Given the description of an element on the screen output the (x, y) to click on. 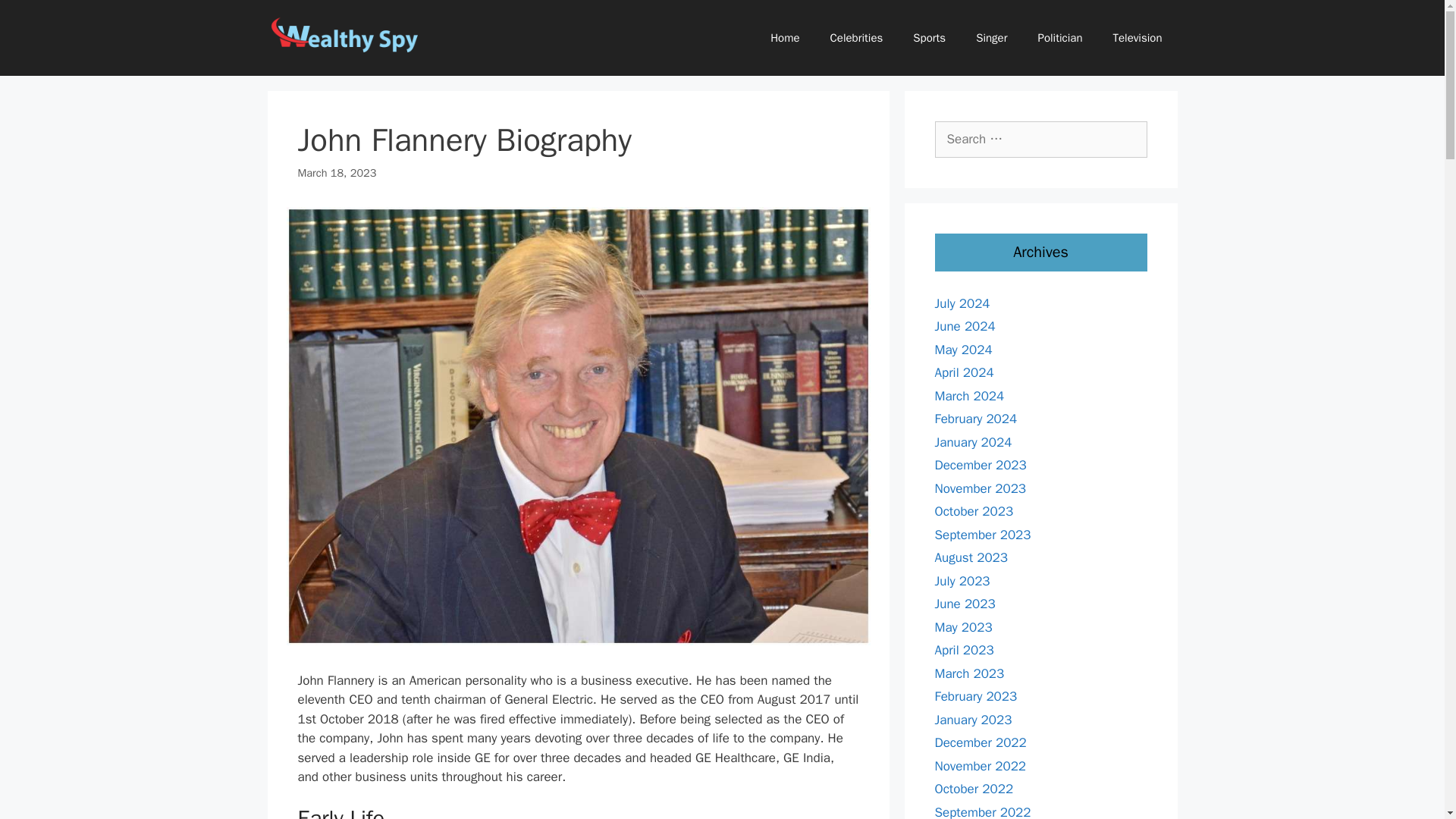
January 2024 (972, 441)
November 2023 (980, 488)
Celebrities (856, 37)
Sports (929, 37)
Search (35, 18)
June 2024 (964, 326)
April 2024 (963, 372)
Search for: (1040, 139)
December 2023 (980, 465)
Television (1137, 37)
September 2023 (982, 534)
October 2023 (973, 511)
March 2024 (969, 396)
August 2023 (970, 557)
July 2023 (962, 580)
